Given the description of an element on the screen output the (x, y) to click on. 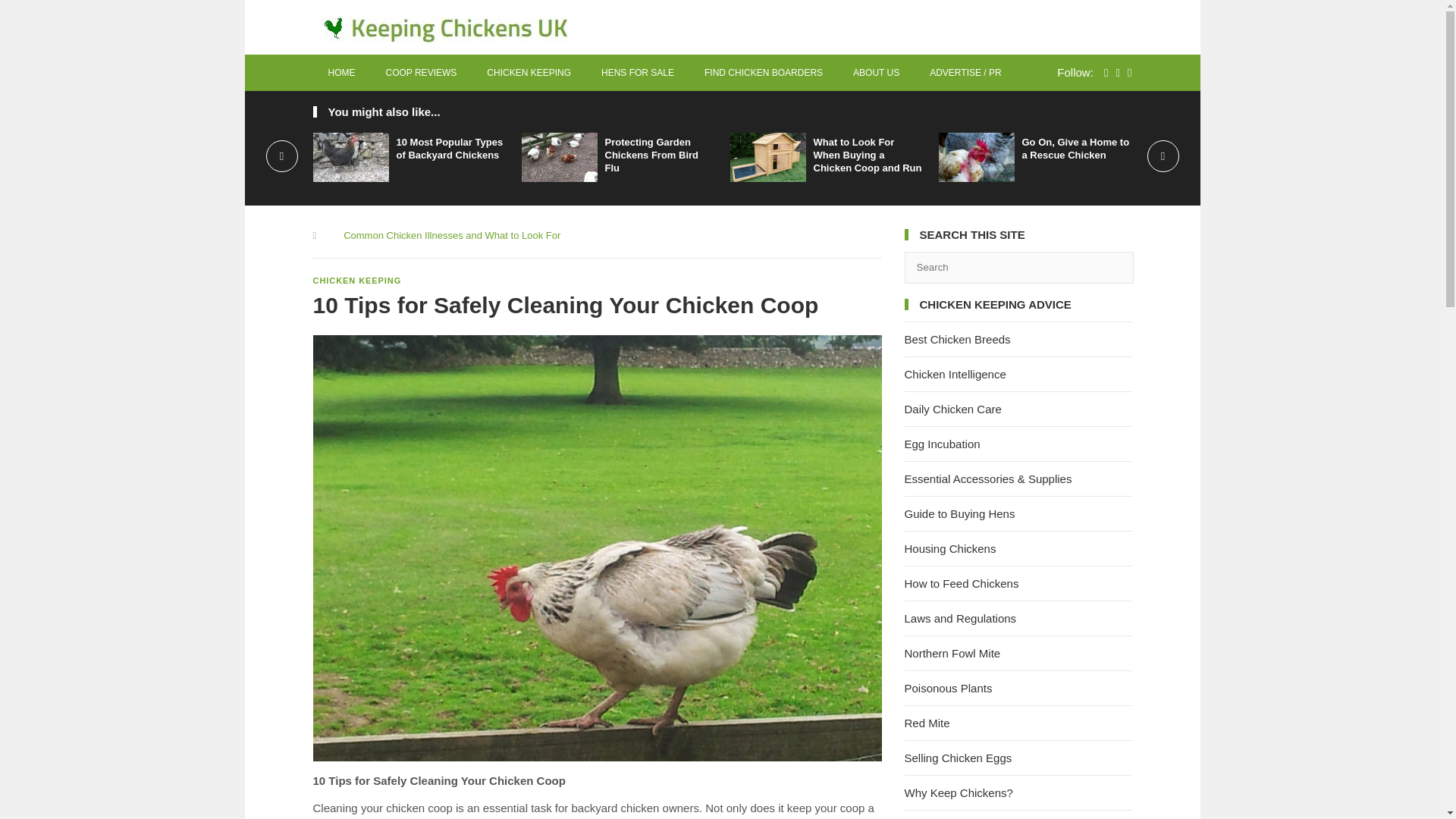
10 Most Popular Types of Backyard Chickens (449, 148)
ABOUT US (876, 72)
COOP REVIEWS (420, 72)
Protecting Garden Chickens From Bird Flu (651, 154)
CHICKEN KEEPING (528, 72)
CHICKEN KEEPING (357, 280)
HOME (341, 72)
HENS FOR SALE (637, 72)
What to Look For When Buying a Chicken Coop and Run (866, 154)
Common Chicken Illnesses and What to Look For (451, 235)
